Given the description of an element on the screen output the (x, y) to click on. 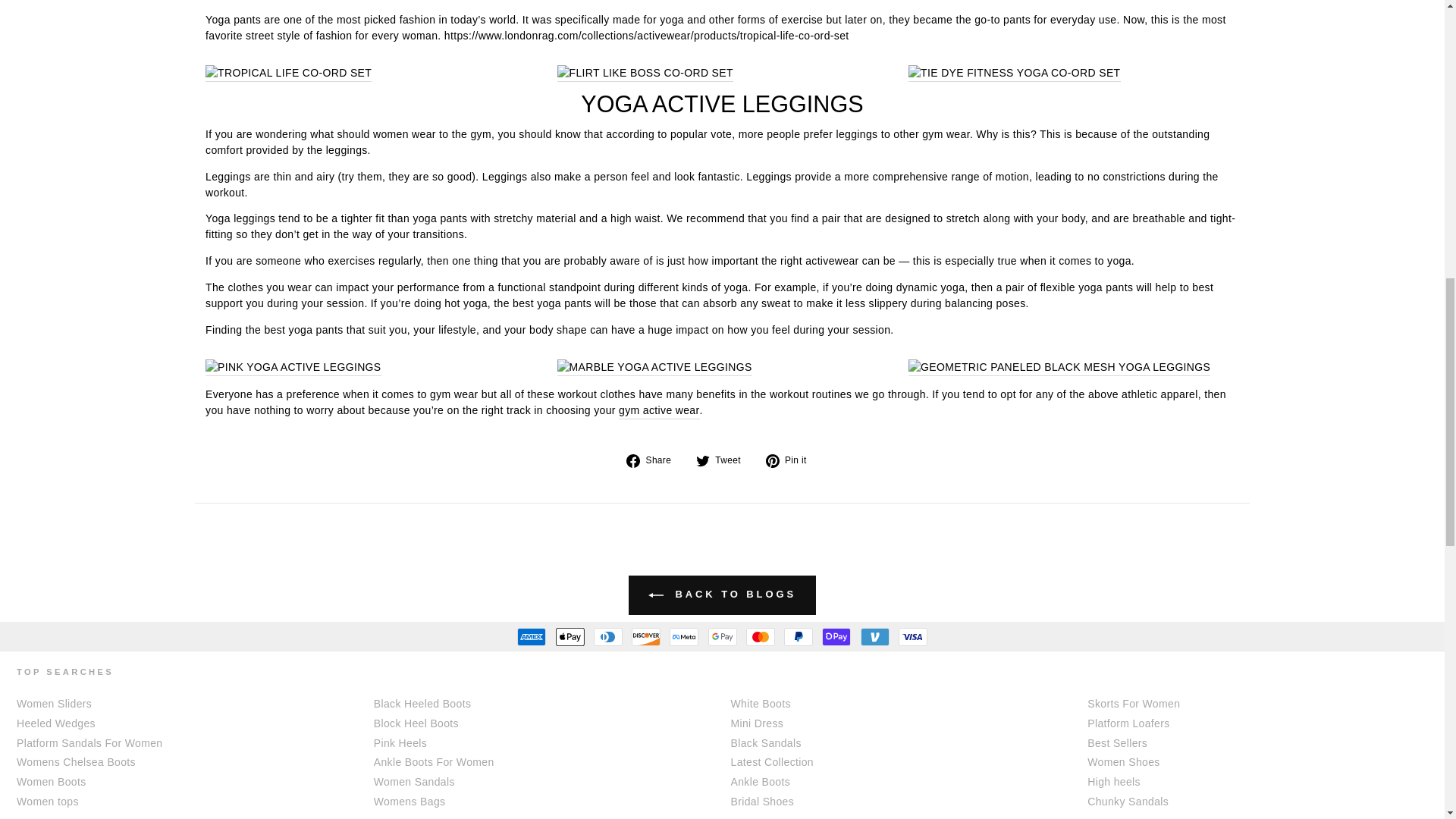
Diners Club (608, 637)
Pin on Pinterest (791, 460)
American Express (531, 637)
Meta Pay (683, 637)
Mastercard (759, 637)
Venmo (874, 637)
Share on Facebook (654, 460)
Apple Pay (568, 637)
Visa (912, 637)
twitter (702, 460)
